Given the description of an element on the screen output the (x, y) to click on. 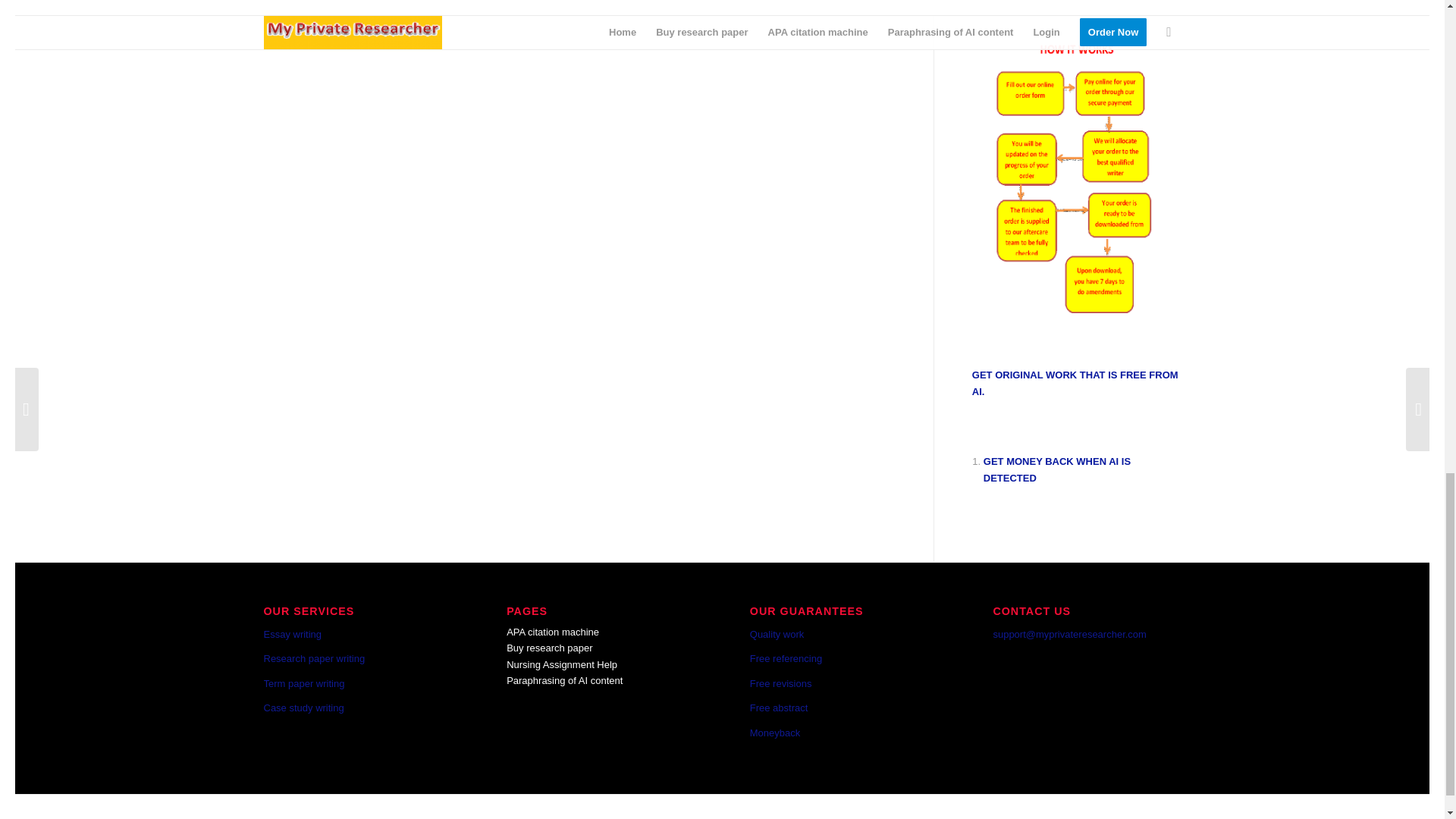
Nursing Assignment Help (561, 664)
Paraphrasing of AI content (564, 680)
APA citation machine (552, 632)
Buy research paper (549, 647)
